Given the description of an element on the screen output the (x, y) to click on. 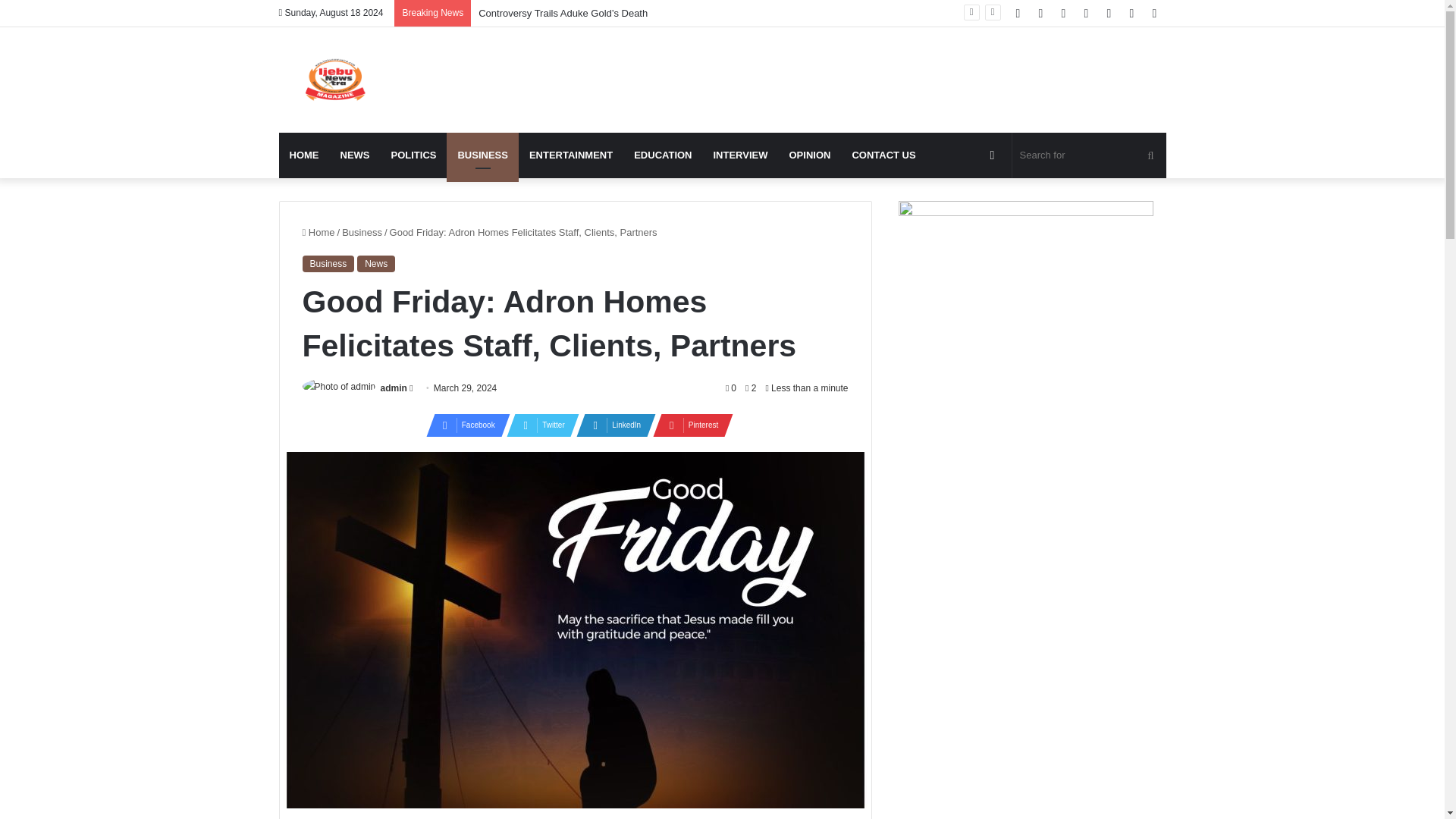
admin (393, 388)
Pinterest (687, 425)
Business (327, 263)
ENTERTAINMENT (570, 155)
Facebook (463, 425)
admin (393, 388)
Search for (1088, 155)
Home (317, 232)
BUSINESS (482, 155)
News (375, 263)
